Given the description of an element on the screen output the (x, y) to click on. 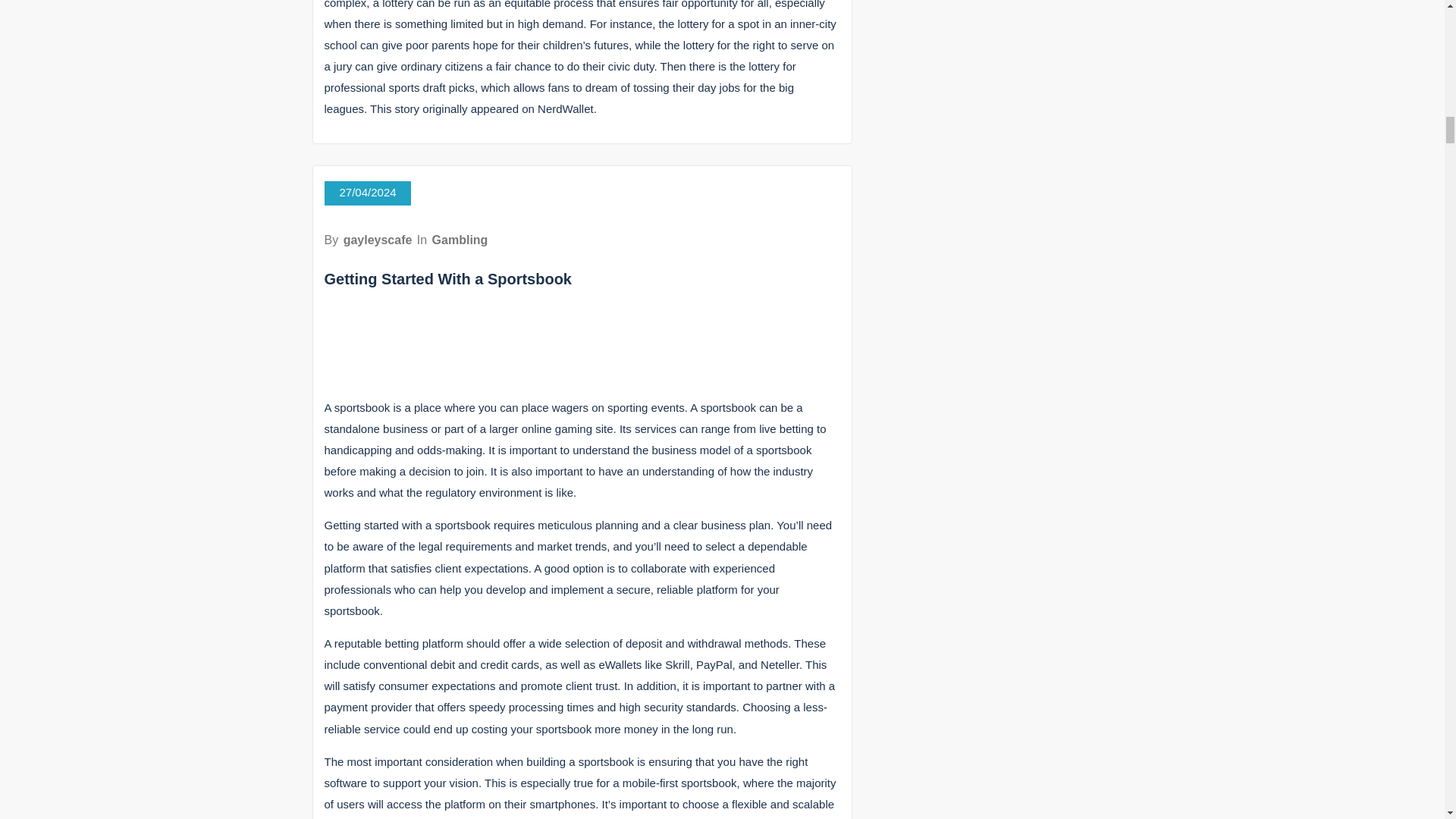
Getting Started With a Sportsbook (448, 279)
gayleyscafe (377, 239)
Gambling (459, 239)
